Given the description of an element on the screen output the (x, y) to click on. 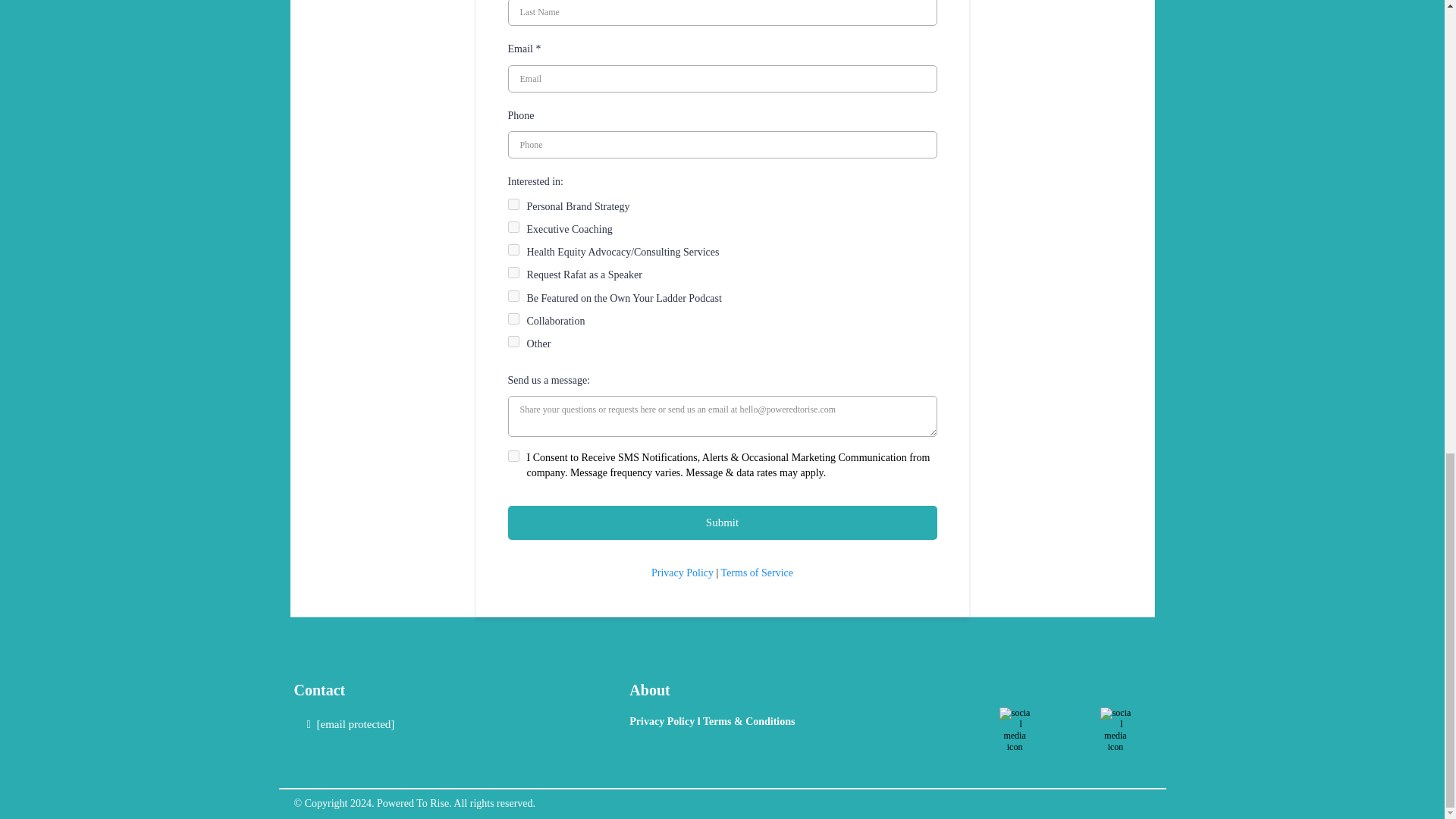
Request Rafat as a Speaker (513, 272)
Collaboration (513, 318)
Other (513, 341)
Executive Coaching (513, 226)
Privacy Policy (662, 721)
Terms of Service (756, 572)
Submit (722, 522)
Personal Brand Strategy (513, 204)
Privacy Policy (681, 572)
Be Featured on the Own Your Ladder Podcast (513, 296)
